Given the description of an element on the screen output the (x, y) to click on. 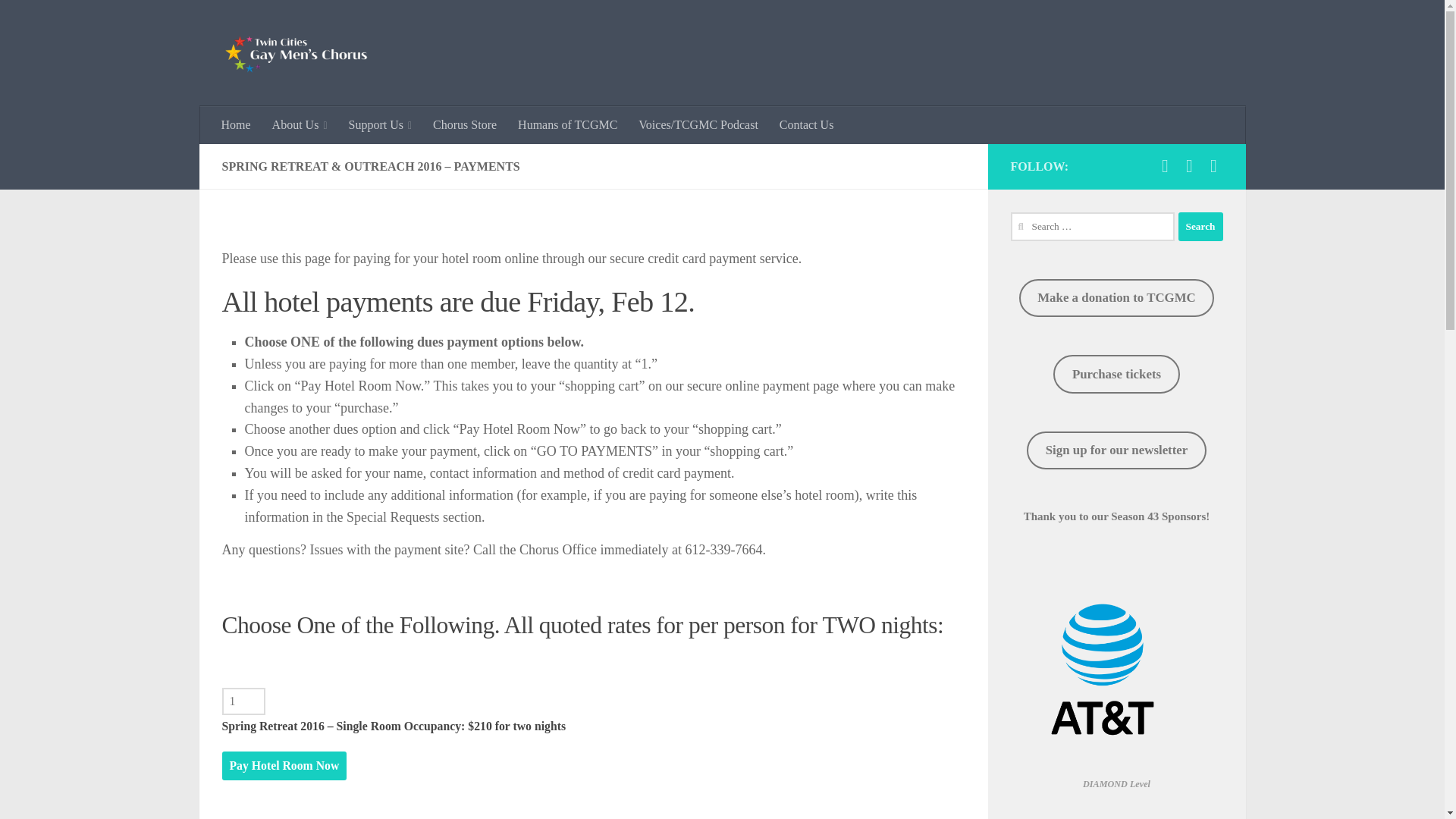
Pay Hotel Room Now (283, 765)
1 (242, 700)
About Us (299, 125)
YouTube (1188, 166)
Instagram (1213, 166)
Search (1200, 226)
Home (236, 125)
Skip to content (59, 20)
Support Us (380, 125)
Search (1200, 226)
Facebook (1164, 166)
